Given the description of an element on the screen output the (x, y) to click on. 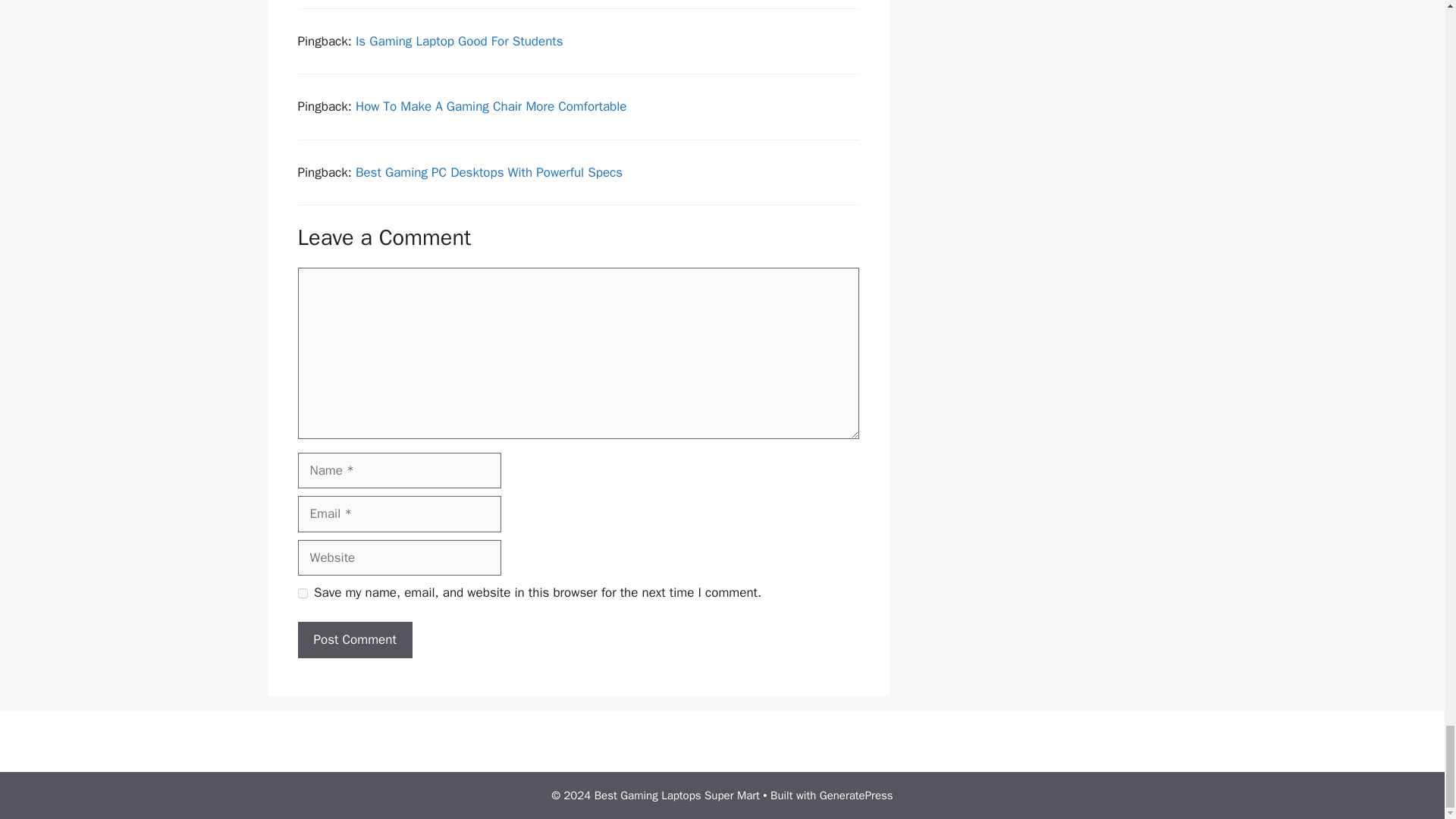
yes (302, 593)
Post Comment (354, 639)
